Given the description of an element on the screen output the (x, y) to click on. 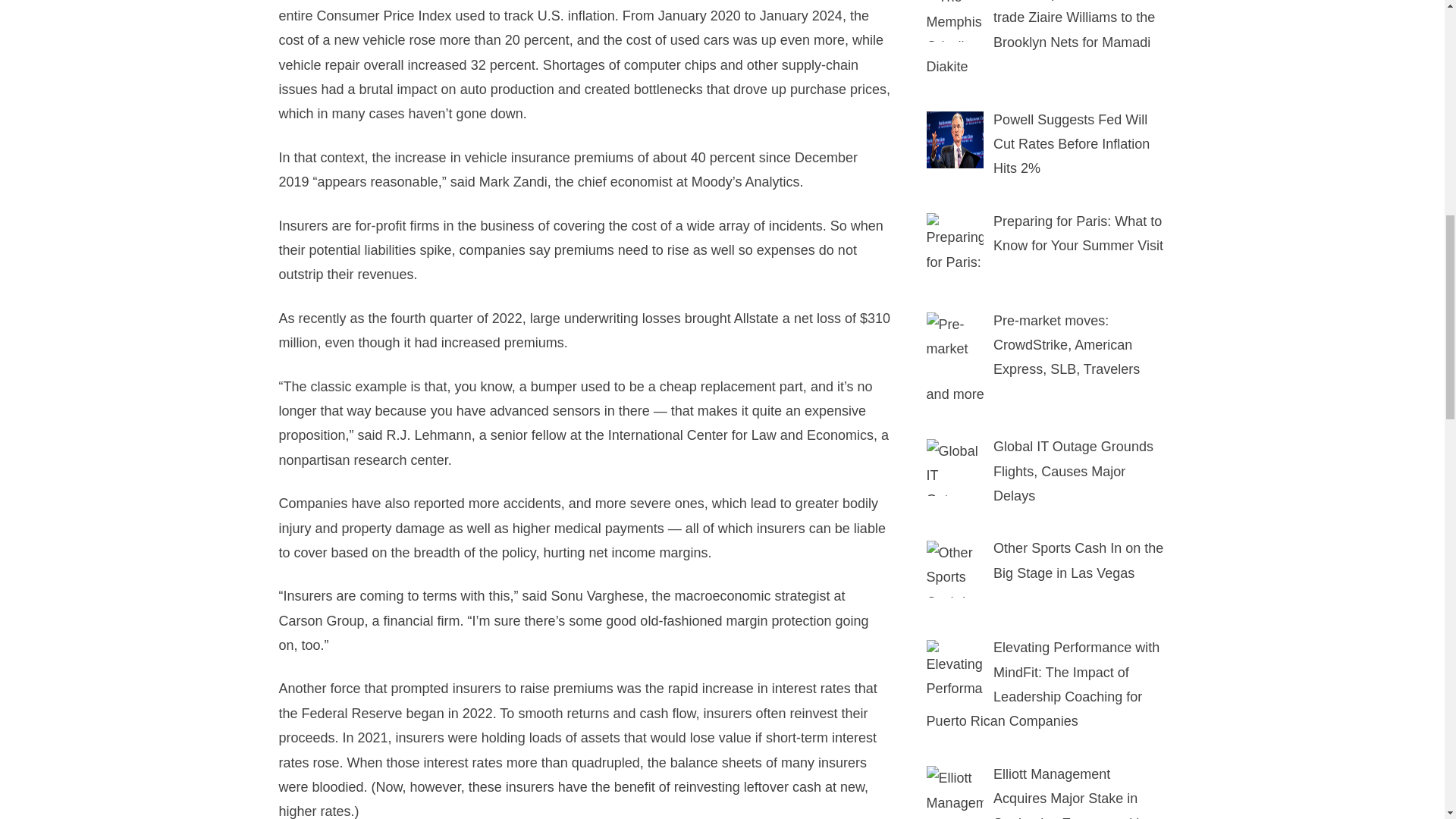
Global IT Outage Grounds Flights, Causes Major Delays (955, 467)
Preparing for Paris: What to Know for Your Summer Visit (955, 241)
Preparing for Paris: What to Know for Your Summer Visit (1077, 233)
Other Sports Cash In on the Big Stage in Las Vegas (955, 568)
Global IT Outage Grounds Flights, Causes Major Delays (1072, 470)
Other Sports Cash In on the Big Stage in Las Vegas (1077, 559)
